Given the description of an element on the screen output the (x, y) to click on. 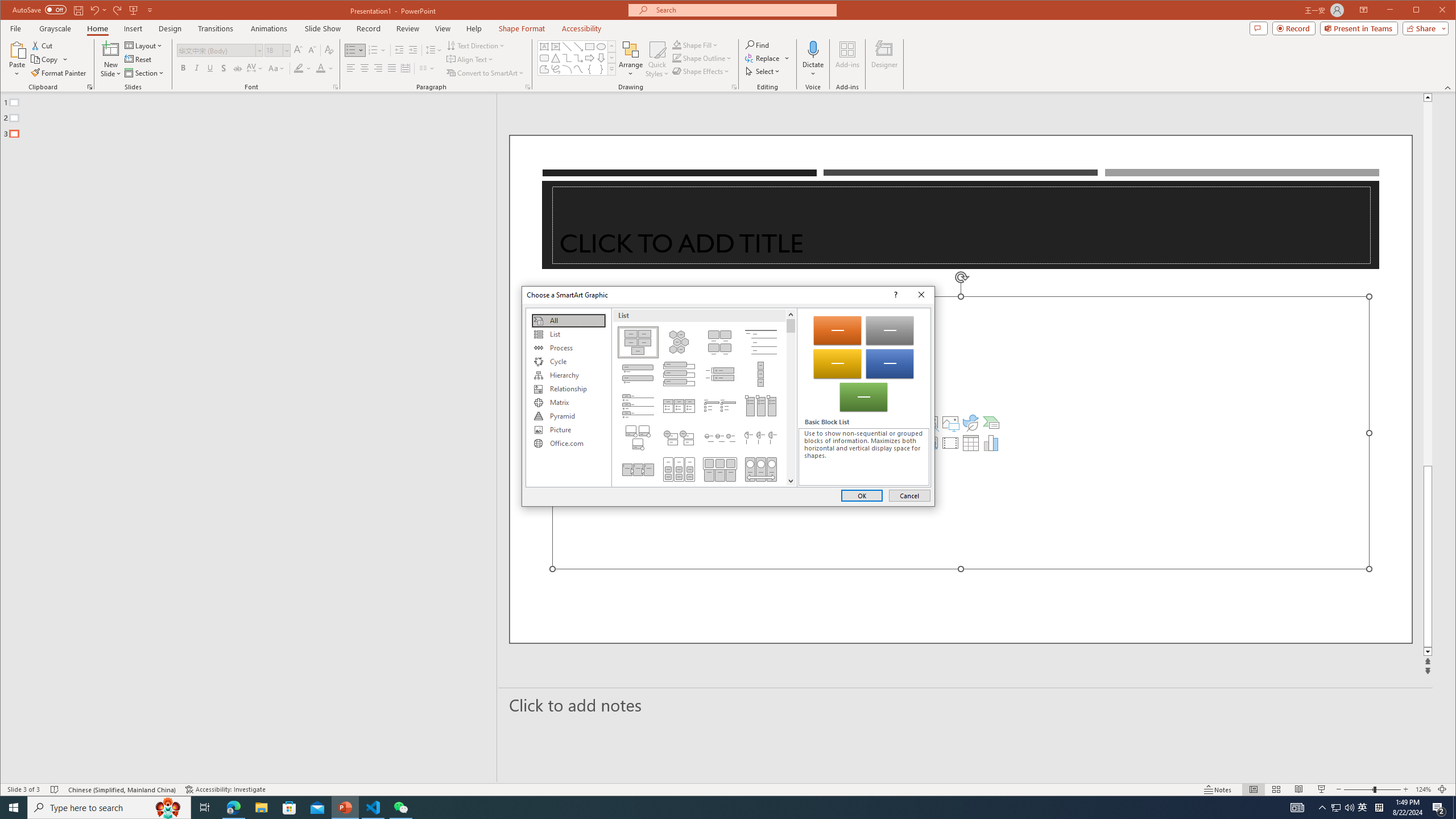
Insert Video (949, 443)
Vertical Box List (678, 373)
Pie Process (761, 437)
Varying Width List (761, 373)
Shape Outline (702, 57)
